Given the description of an element on the screen output the (x, y) to click on. 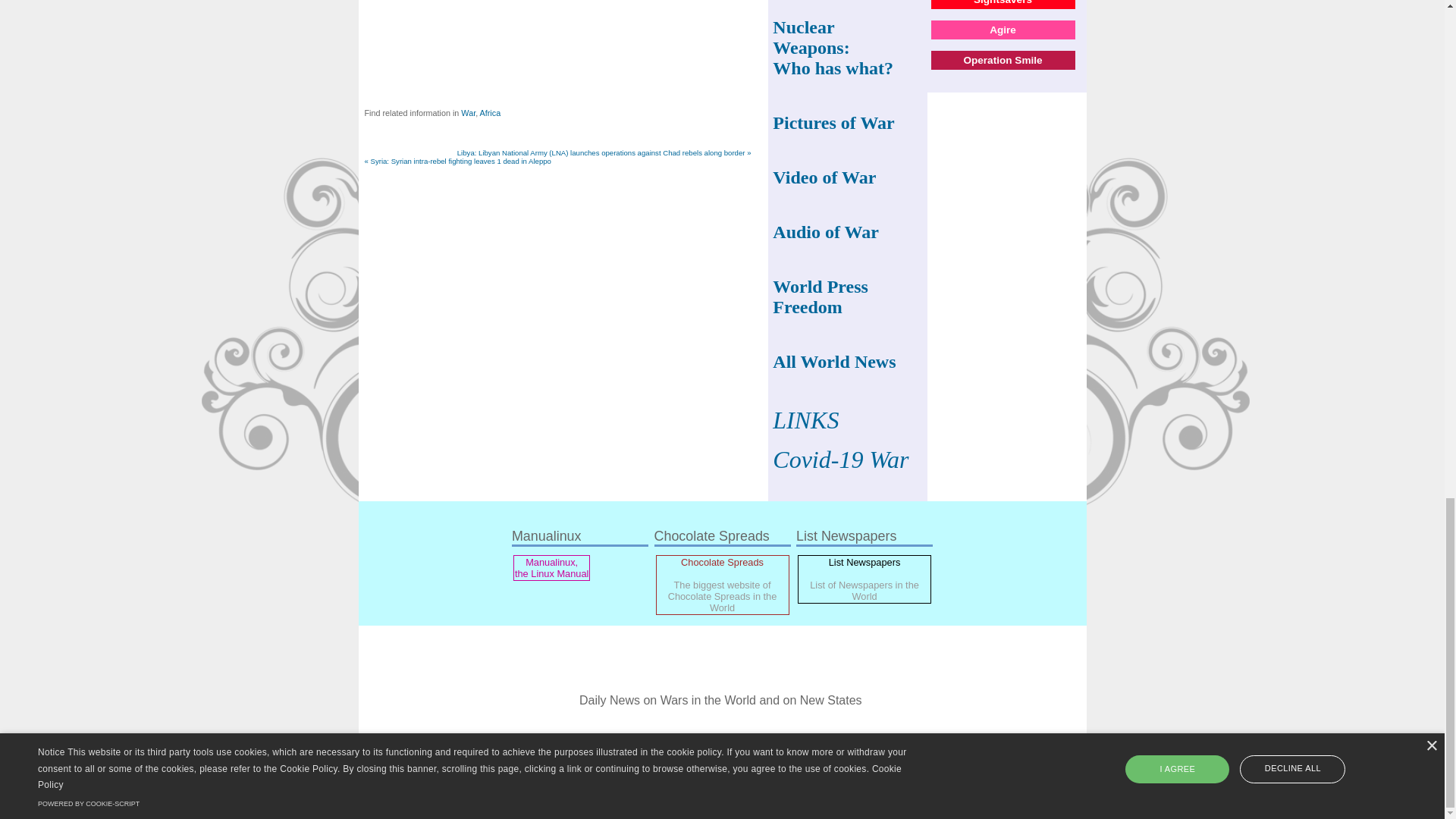
Operation Smile (1002, 60)
Agire (1003, 30)
Sightsavers (1003, 2)
